Given the description of an element on the screen output the (x, y) to click on. 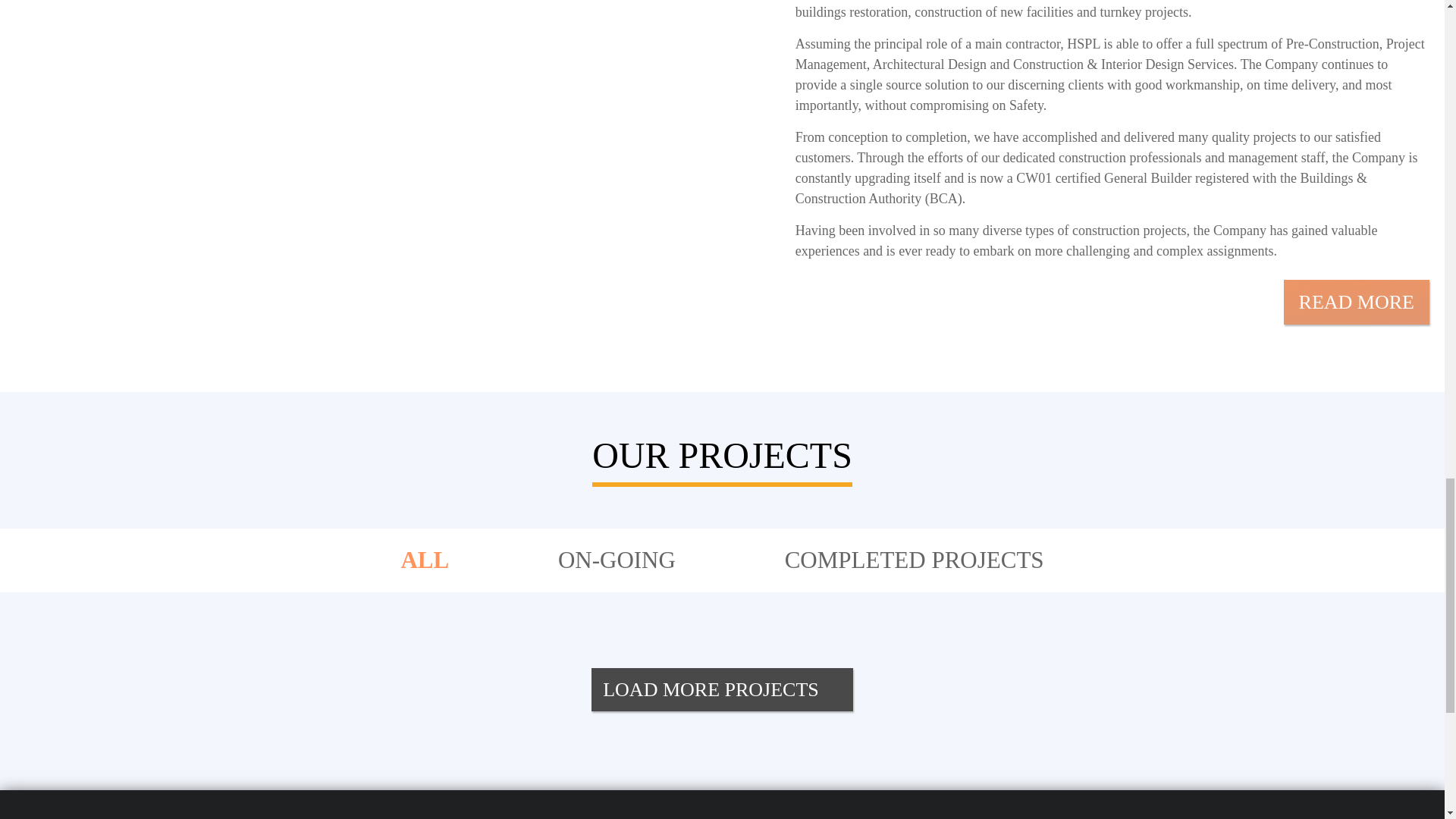
ALL (424, 560)
LOAD MORE PROJECTS (722, 689)
ON-GOING (617, 560)
READ MORE (1356, 302)
COMPLETED PROJECTS (914, 560)
